Given the description of an element on the screen output the (x, y) to click on. 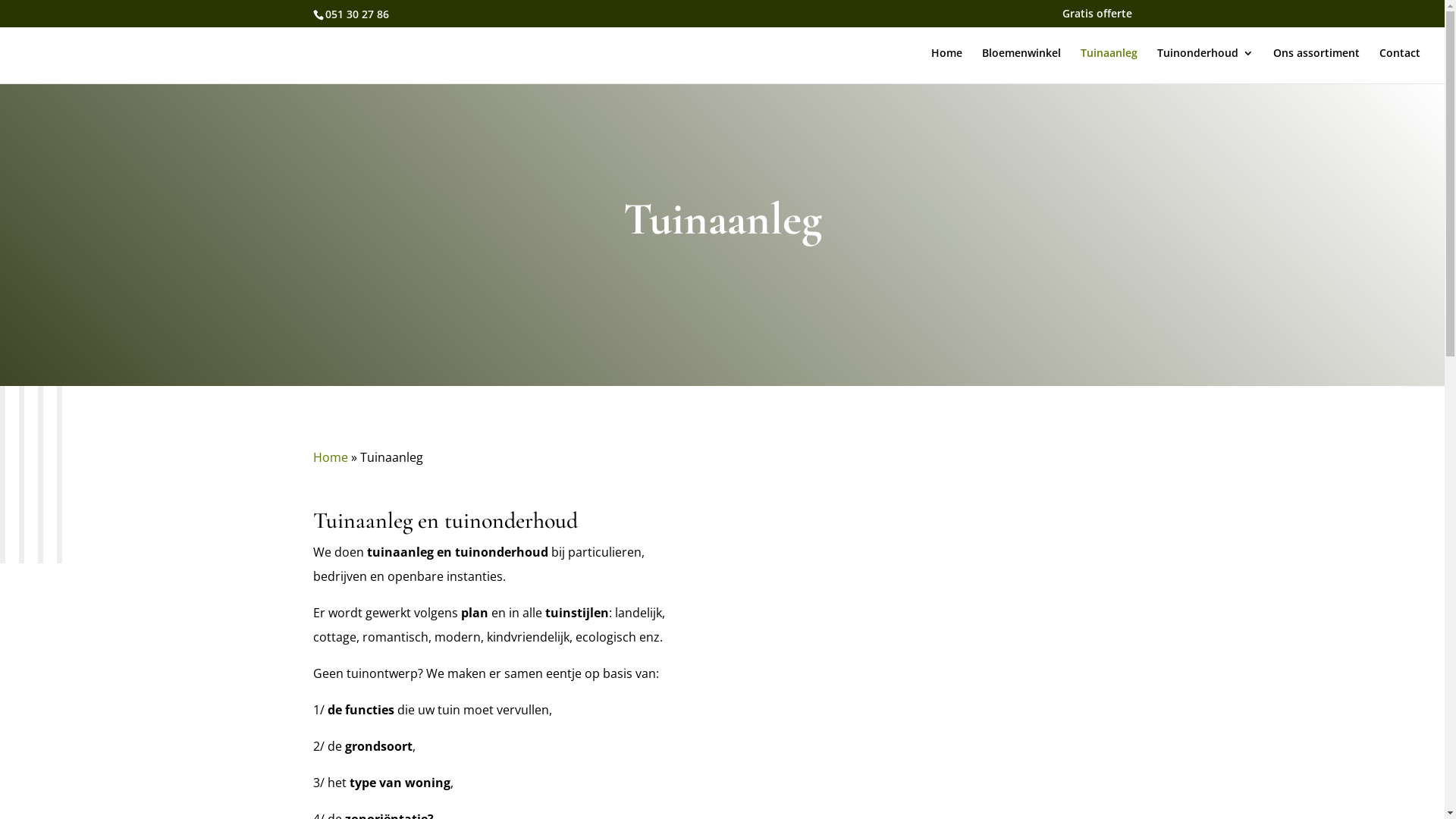
Bloemenwinkel Element type: text (1021, 65)
Tuinonderhoud Element type: text (1205, 65)
Gratis offerte Element type: text (1096, 16)
Contact Element type: text (1399, 65)
Tuinaanleg Element type: text (1108, 65)
Ons assortiment Element type: text (1316, 65)
051 30 27 86 Element type: text (356, 13)
Home Element type: text (329, 456)
Home Element type: text (946, 65)
